Given the description of an element on the screen output the (x, y) to click on. 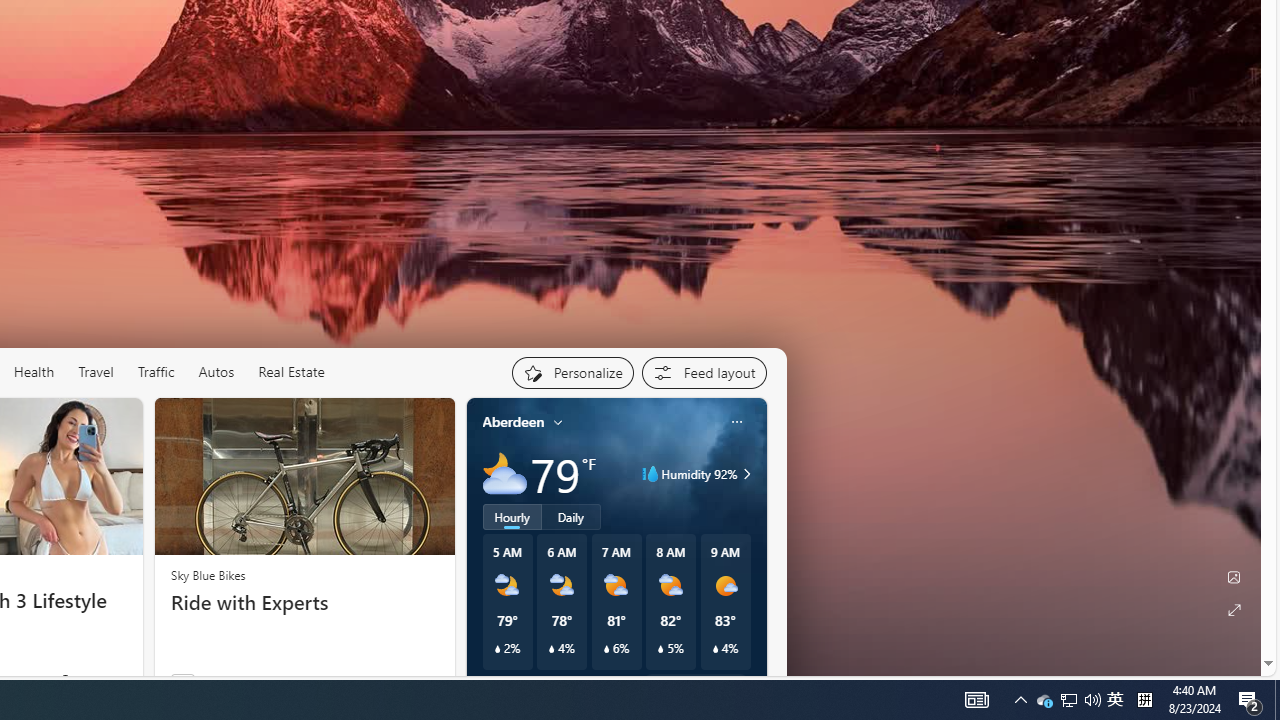
Mostly cloudy (504, 474)
Personalize your feed" (571, 372)
previous (476, 549)
Daily (571, 516)
Class: weather-arrow-glyph (746, 474)
Edit Background (1233, 577)
